Given the description of an element on the screen output the (x, y) to click on. 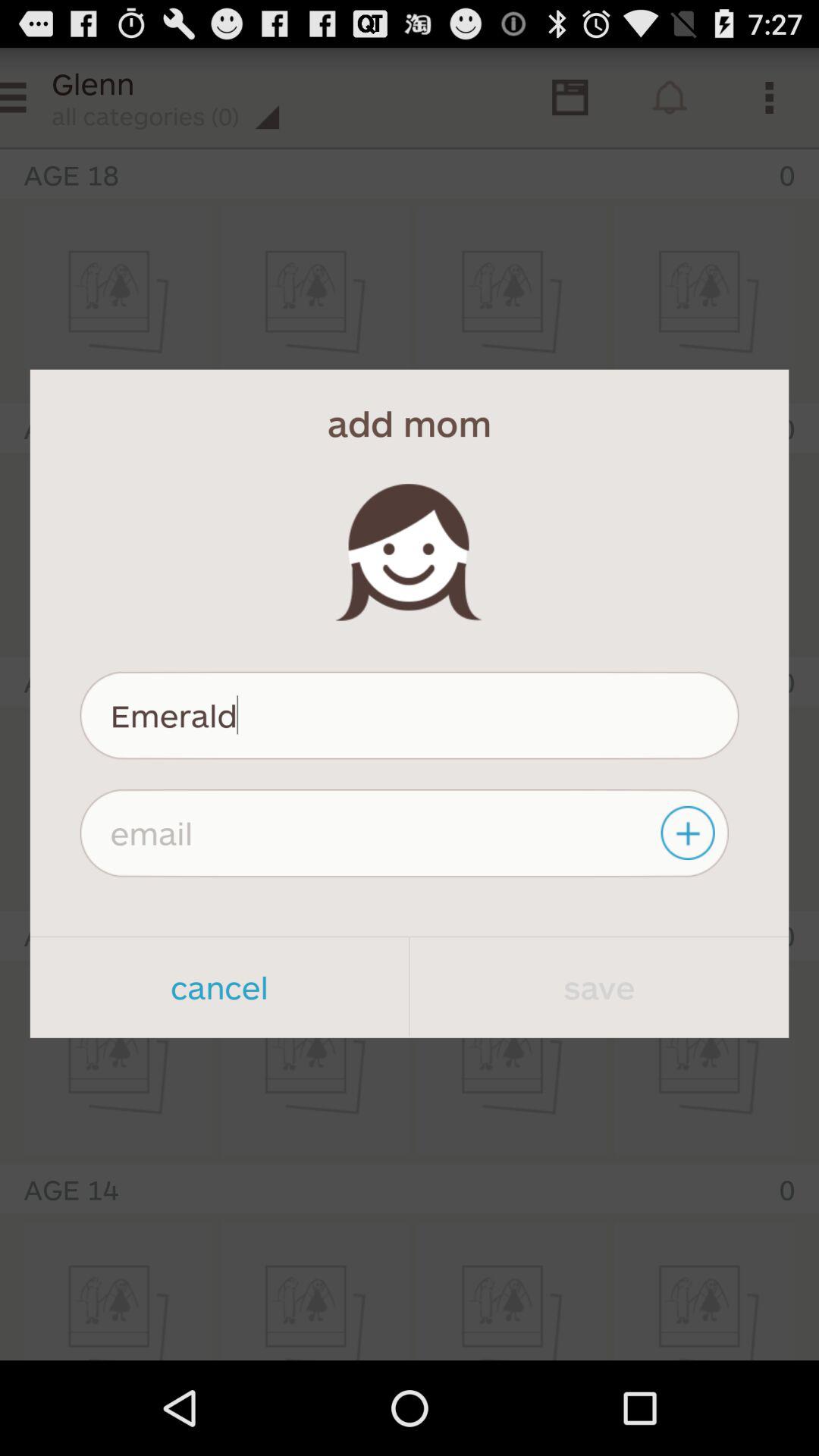
scroll to the save (598, 986)
